Given the description of an element on the screen output the (x, y) to click on. 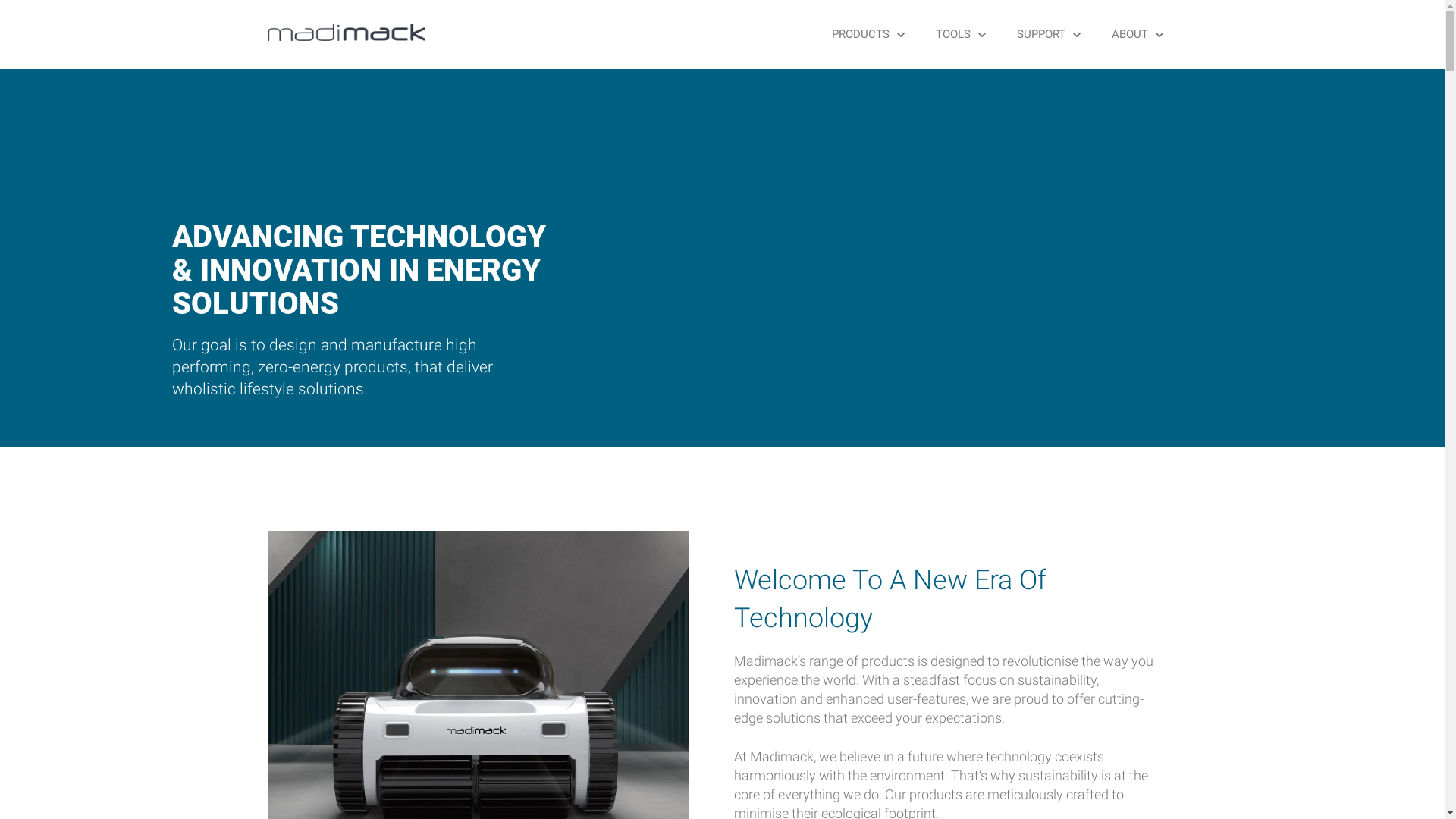
PRODUCTS Element type: text (859, 34)
SHOW SUBMENU FOR ABOUT Element type: text (1156, 34)
SHOW SUBMENU FOR PRODUCTS Element type: text (896, 34)
ABOUT Element type: text (1129, 34)
SHOW SUBMENU FOR TOOLS Element type: text (978, 34)
SHOW SUBMENU FOR SUPPORT Element type: text (1072, 34)
SUPPORT Element type: text (1040, 34)
TOOLS Element type: text (952, 34)
